Given the description of an element on the screen output the (x, y) to click on. 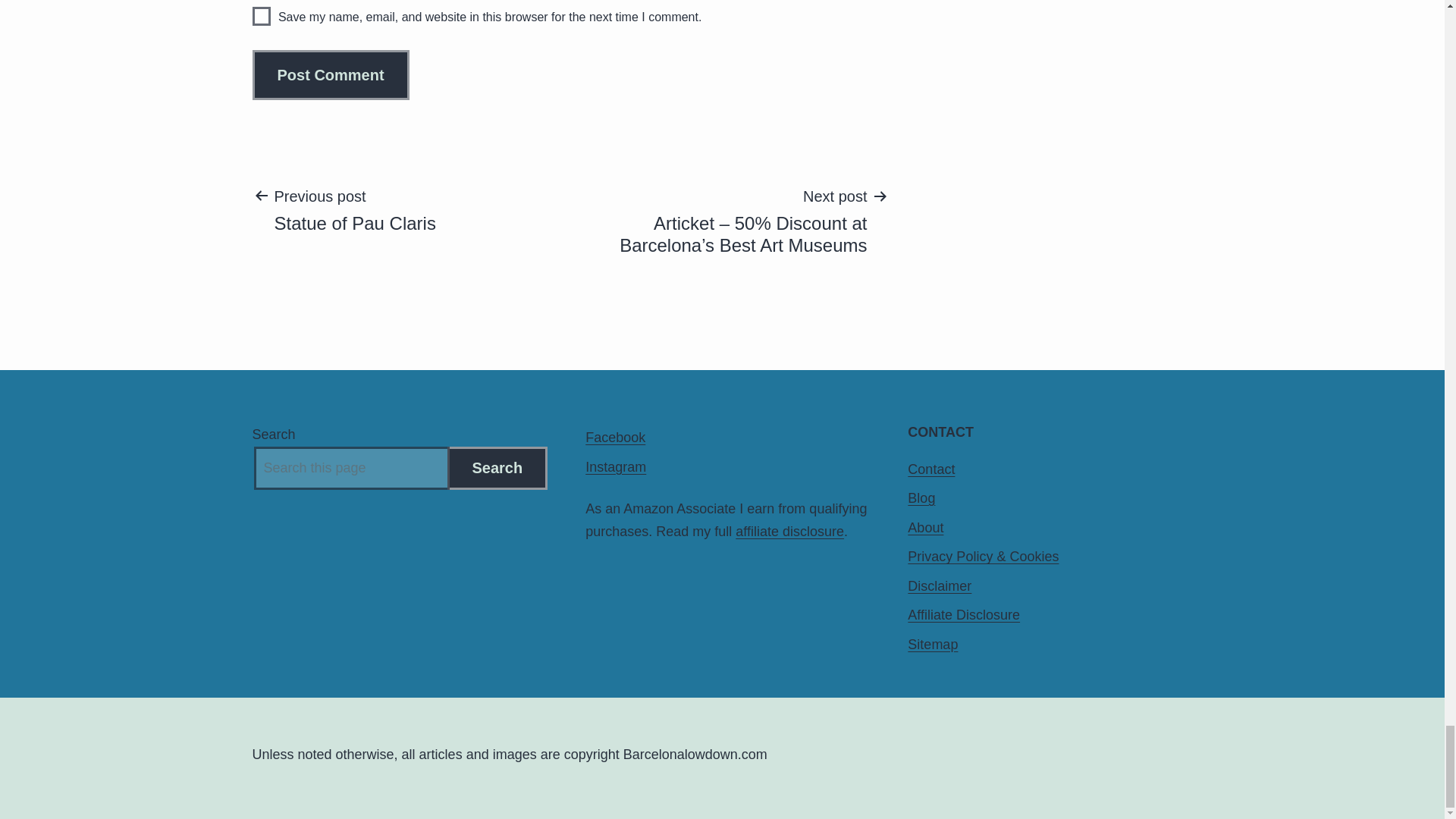
Post Comment (330, 74)
yes (260, 15)
Post Comment (330, 74)
